Given the description of an element on the screen output the (x, y) to click on. 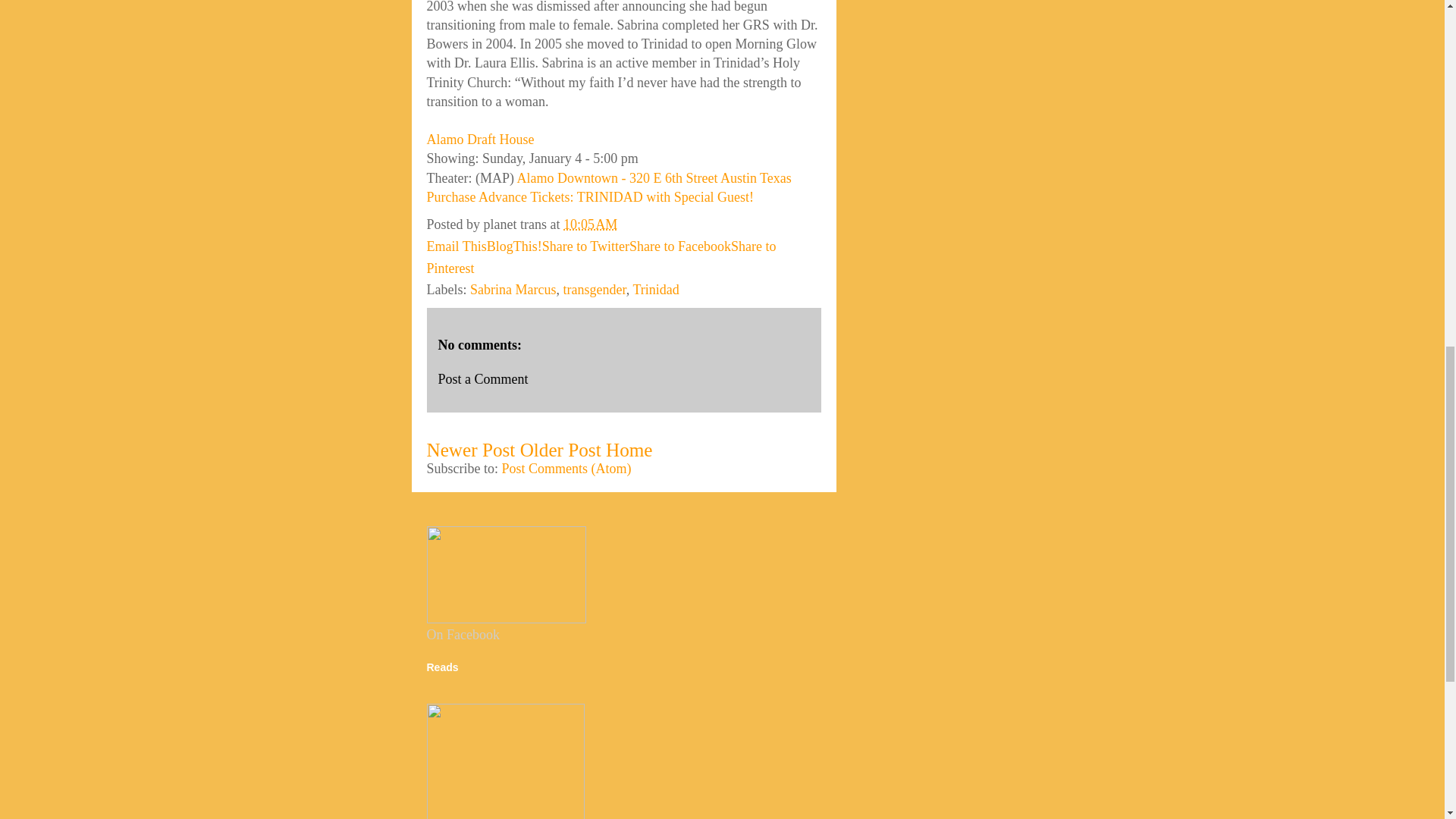
Newer Post (470, 449)
Trinidad (654, 289)
Alamo Draft House (480, 139)
BlogThis! (513, 246)
Share to Pinterest (601, 257)
Email Post (627, 224)
Alamo Downtown - 320 E 6th Street Austin Texas (653, 177)
Older Post (560, 449)
Newer Post (470, 449)
Email This (456, 246)
